Given the description of an element on the screen output the (x, y) to click on. 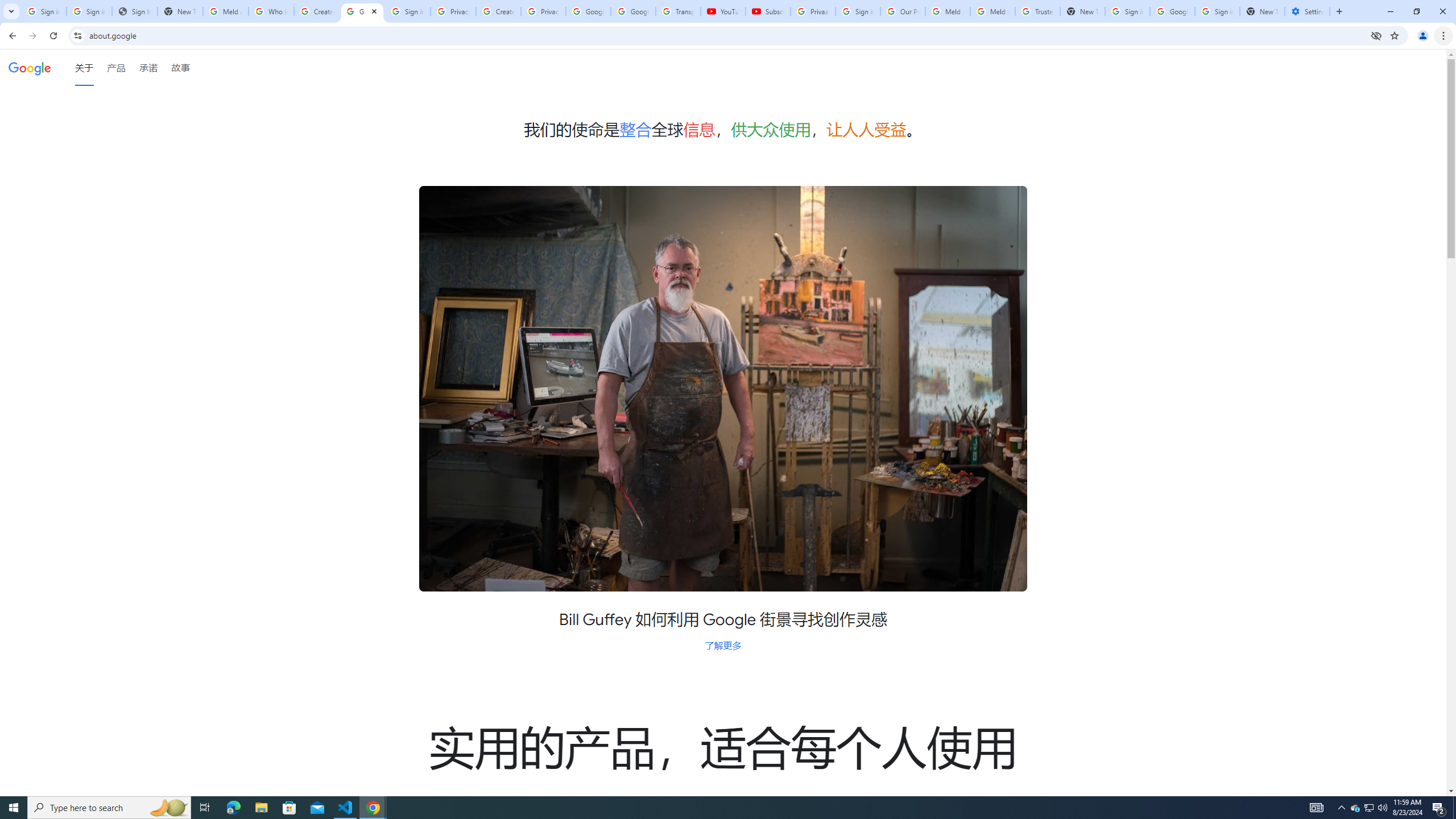
Google Cybersecurity Innovations - Google Safety Center (1171, 11)
Who is my administrator? - Google Account Help (270, 11)
Subscriptions - YouTube (767, 11)
Sign in - Google Accounts (1126, 11)
